Given the description of an element on the screen output the (x, y) to click on. 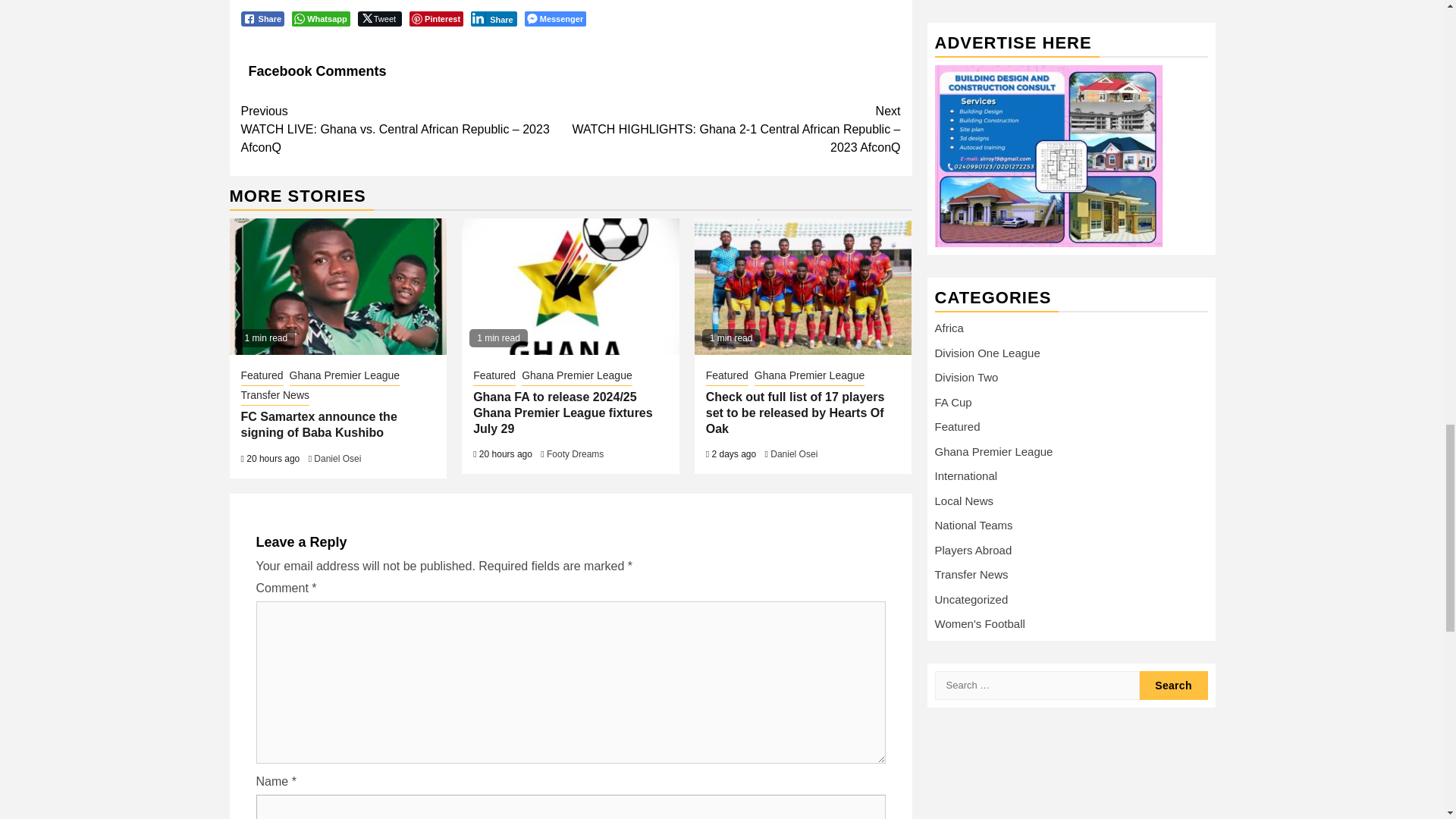
Tweet (379, 18)
Pinterest (436, 18)
Whatsapp (321, 18)
Share (263, 18)
Share (493, 18)
Messenger (555, 18)
